Given the description of an element on the screen output the (x, y) to click on. 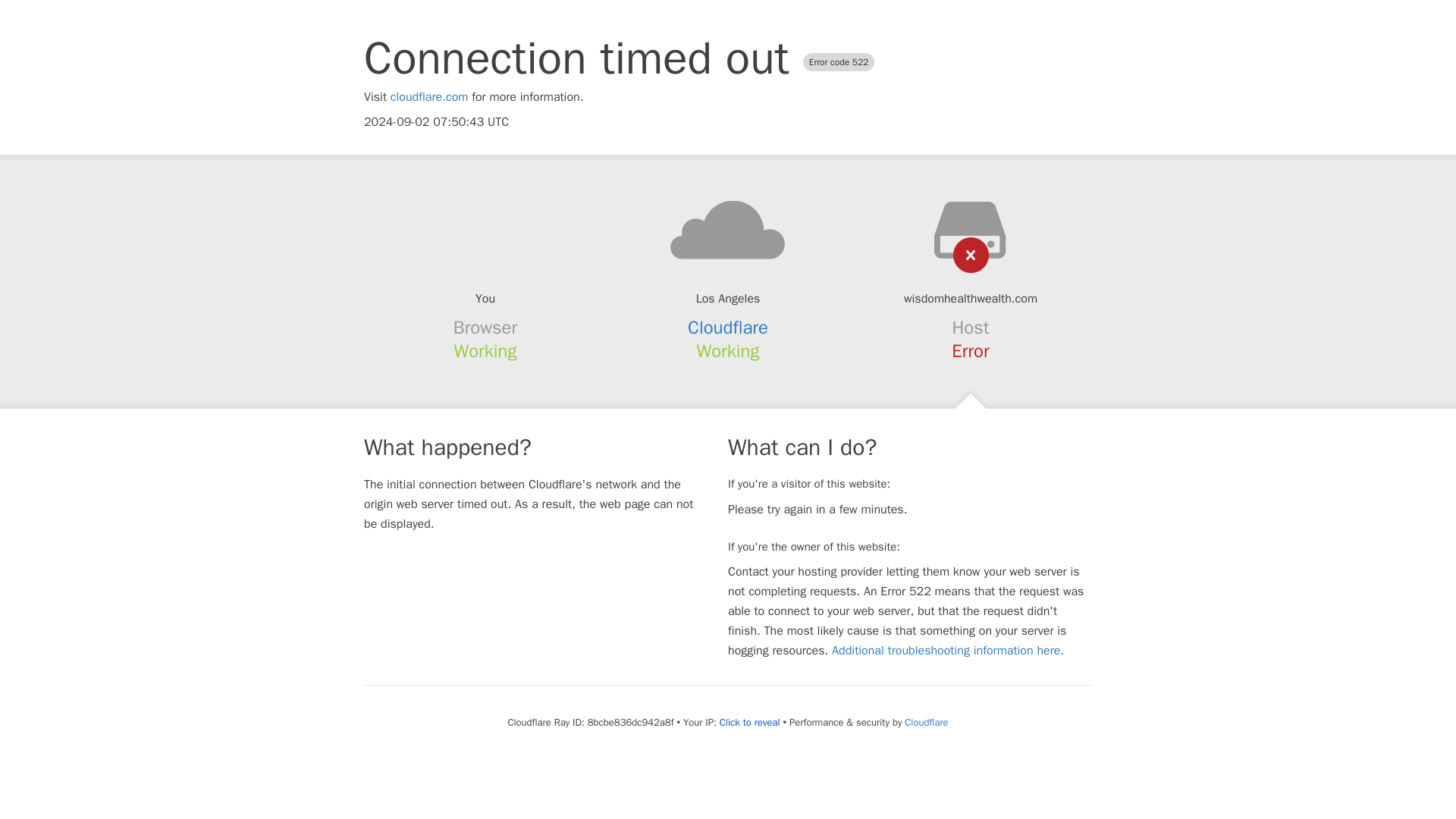
cloudflare.com (429, 96)
Cloudflare (727, 327)
Click to reveal (749, 722)
Additional troubleshooting information here. (947, 650)
Cloudflare (925, 721)
